Given the description of an element on the screen output the (x, y) to click on. 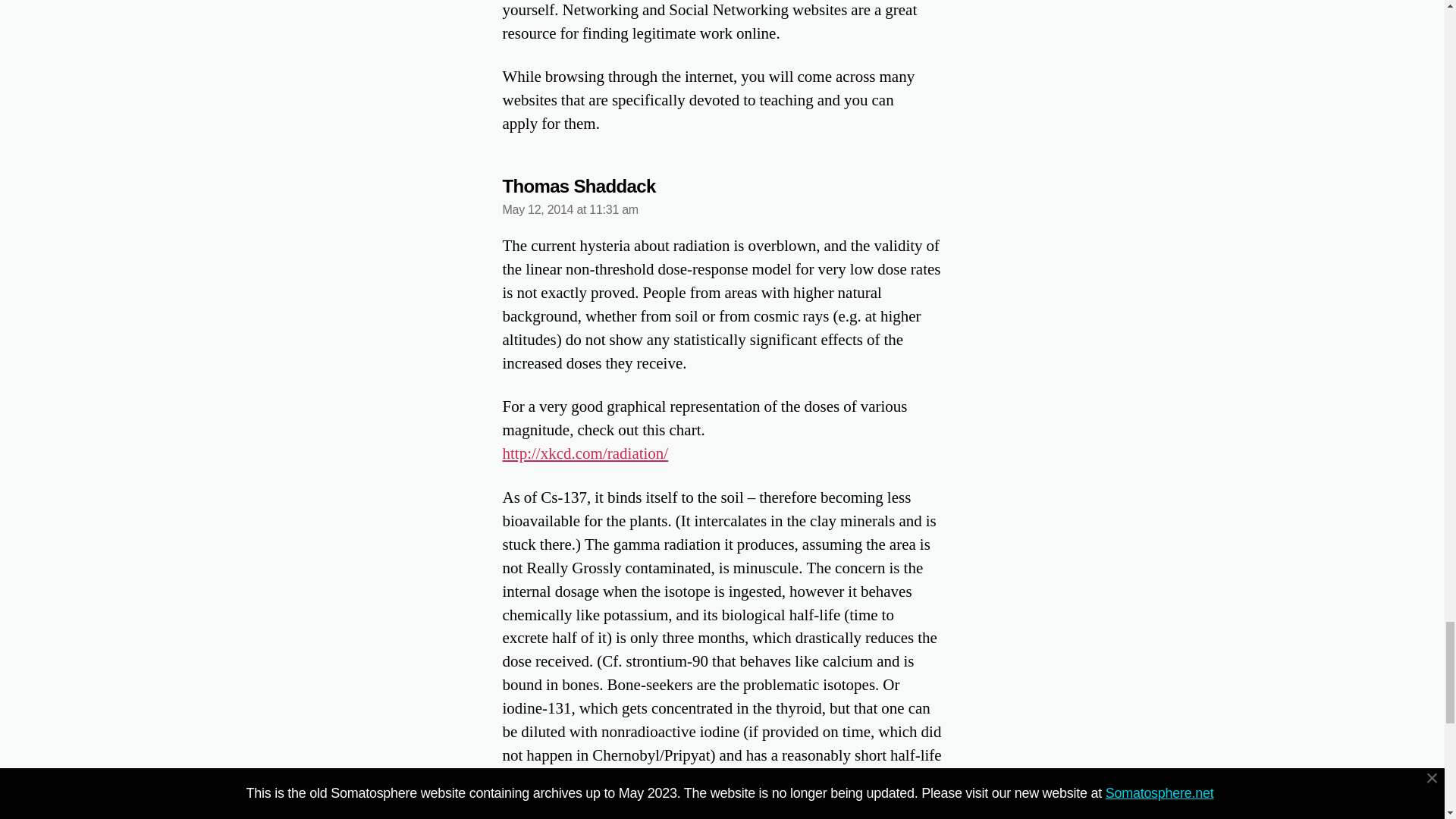
May 12, 2014 at 11:31 am (569, 209)
